Given the description of an element on the screen output the (x, y) to click on. 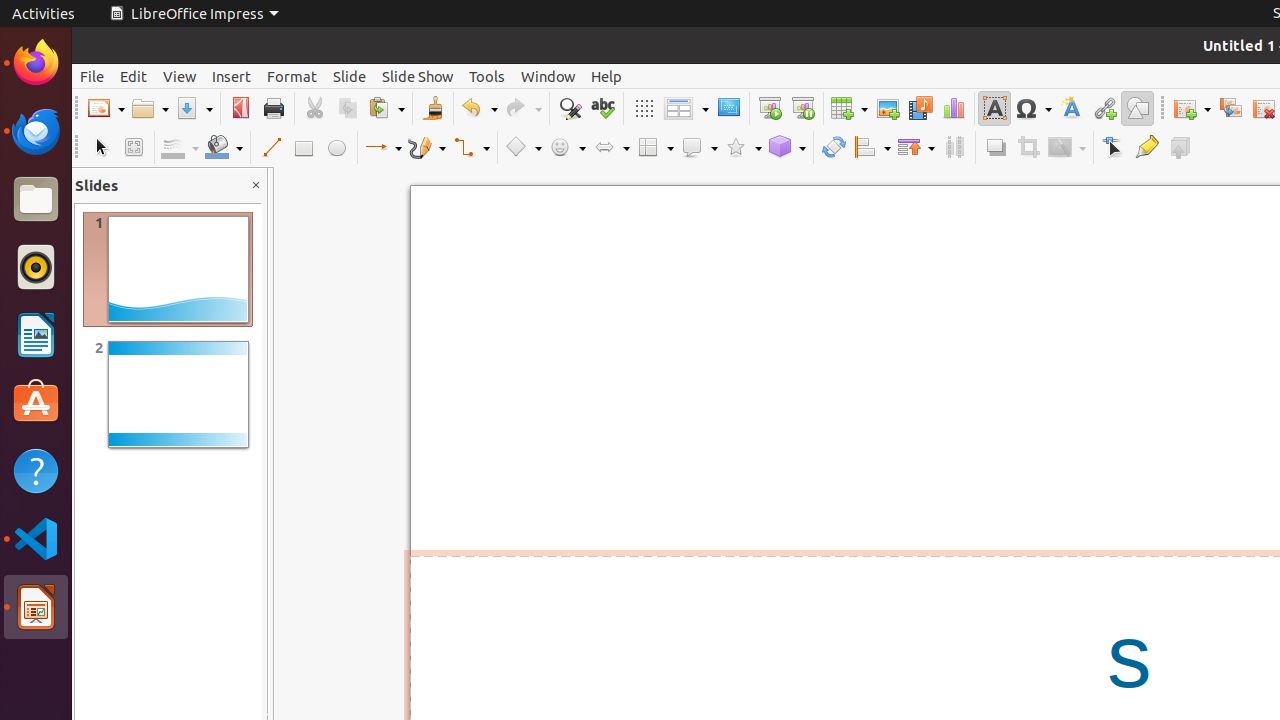
Visual Studio Code Element type: push-button (36, 538)
Duplicate Slide Element type: push-button (1230, 108)
Clone Element type: push-button (432, 108)
Grid Element type: toggle-button (643, 108)
Rectangle Element type: push-button (303, 147)
